Given the description of an element on the screen output the (x, y) to click on. 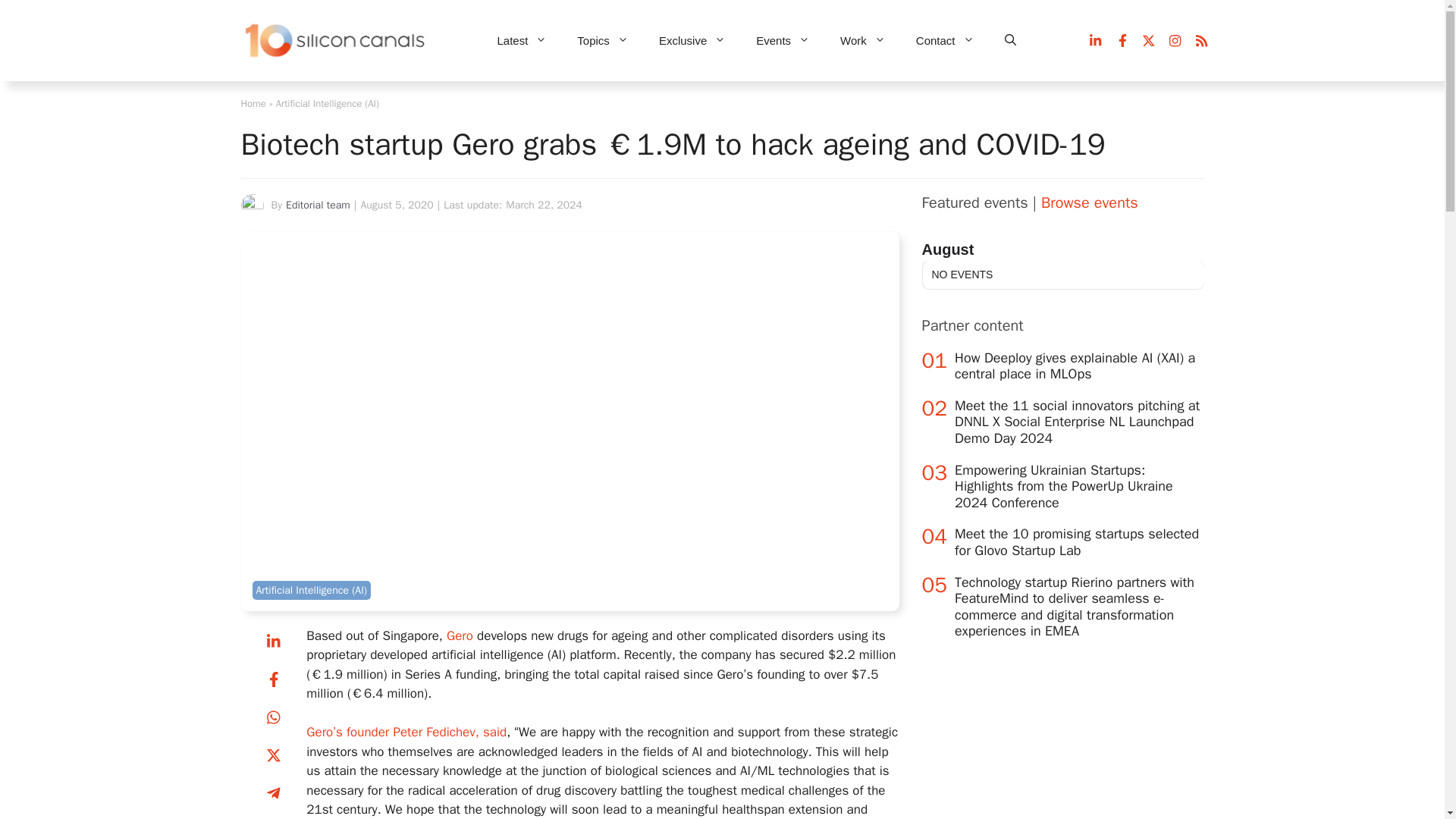
Latest (521, 40)
Topics (602, 40)
Exclusive (692, 40)
Work (863, 40)
SC 10 year horizontal (335, 40)
Events (783, 40)
